Given the description of an element on the screen output the (x, y) to click on. 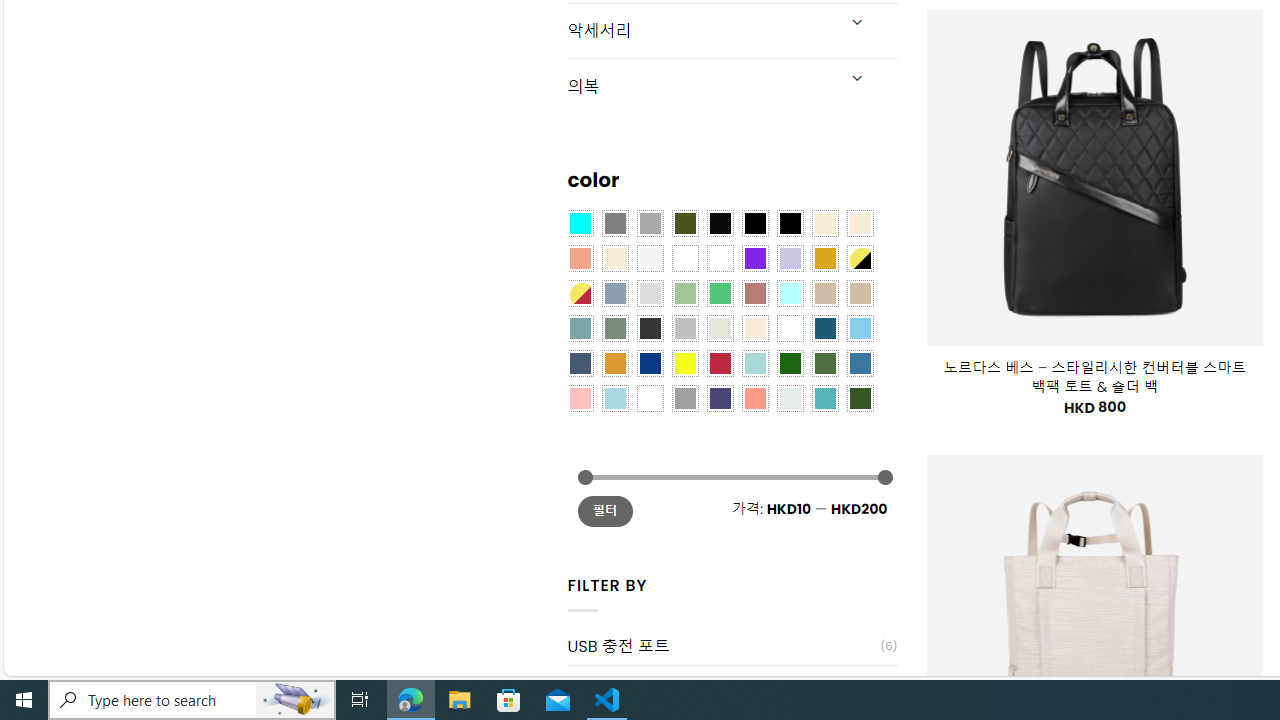
Coral (579, 257)
